Given the description of an element on the screen output the (x, y) to click on. 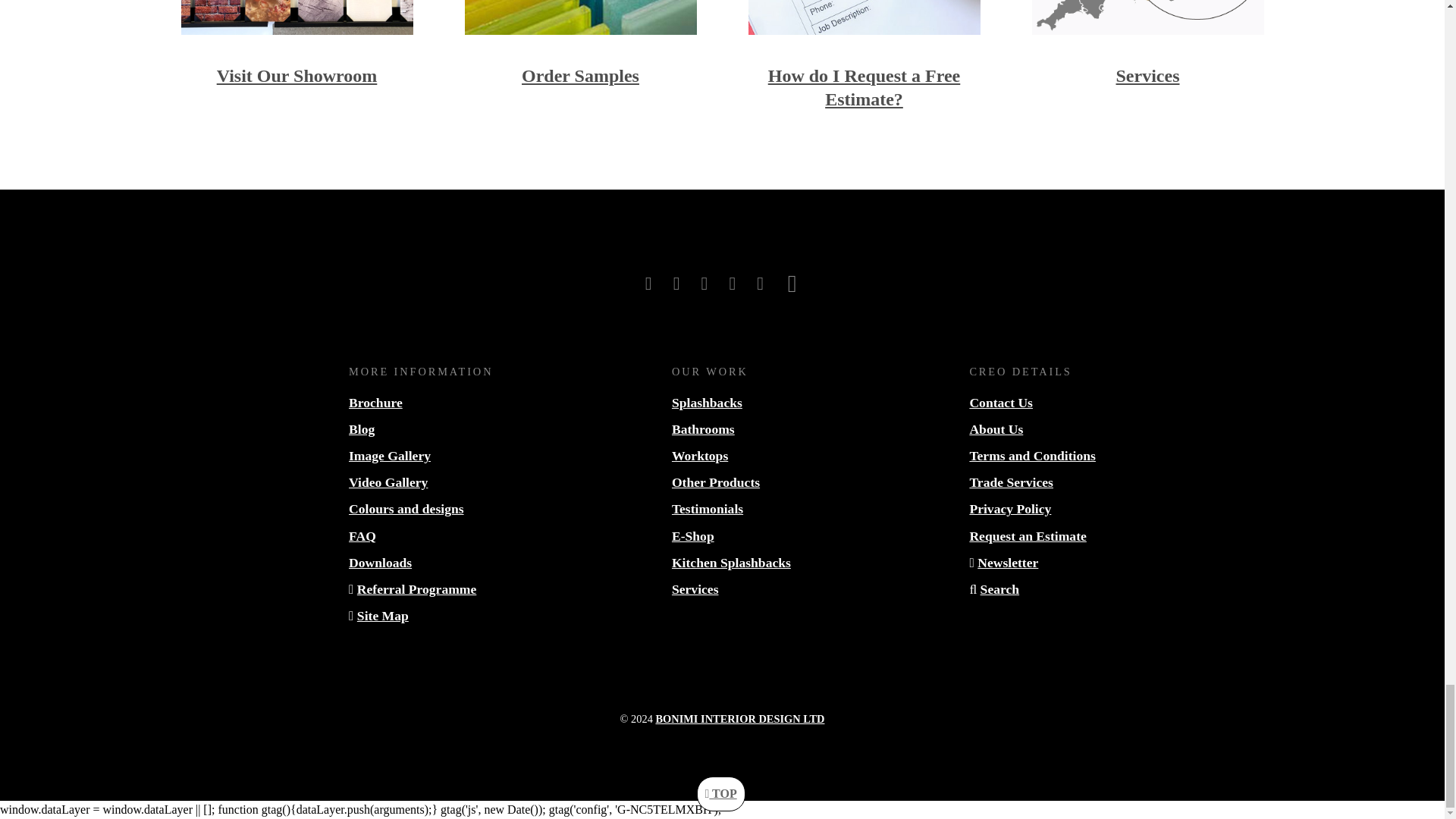
Twitter (679, 283)
Instagram (706, 283)
Facebook (651, 283)
Brochure (376, 402)
YouTube (762, 283)
LinkedIn (734, 283)
Pinterest (792, 283)
